Given the description of an element on the screen output the (x, y) to click on. 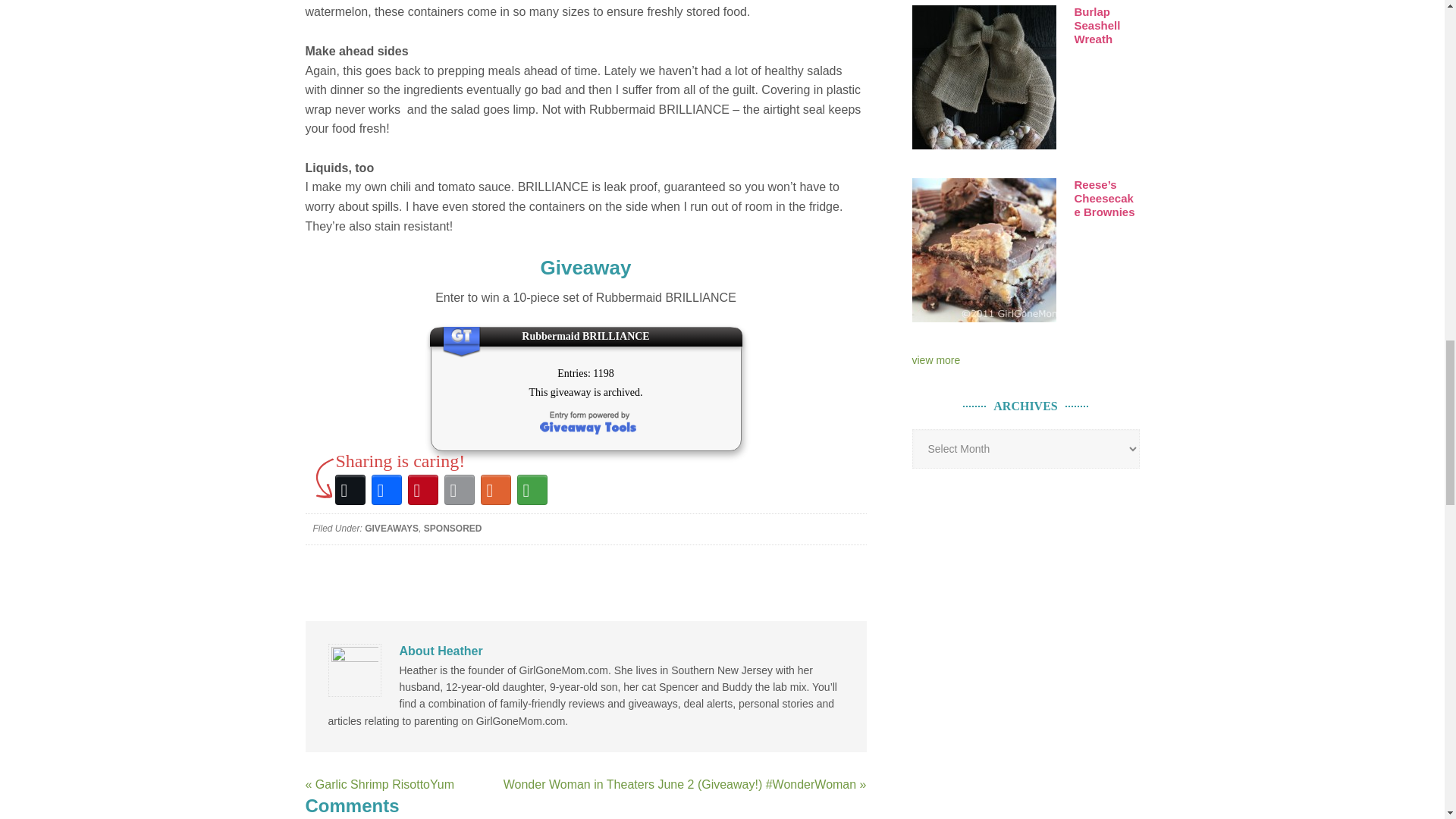
Pin It (935, 359)
Email This (459, 489)
Facebook (386, 489)
More Options (531, 489)
Yummly (495, 489)
Pinterest (422, 489)
